Given the description of an element on the screen output the (x, y) to click on. 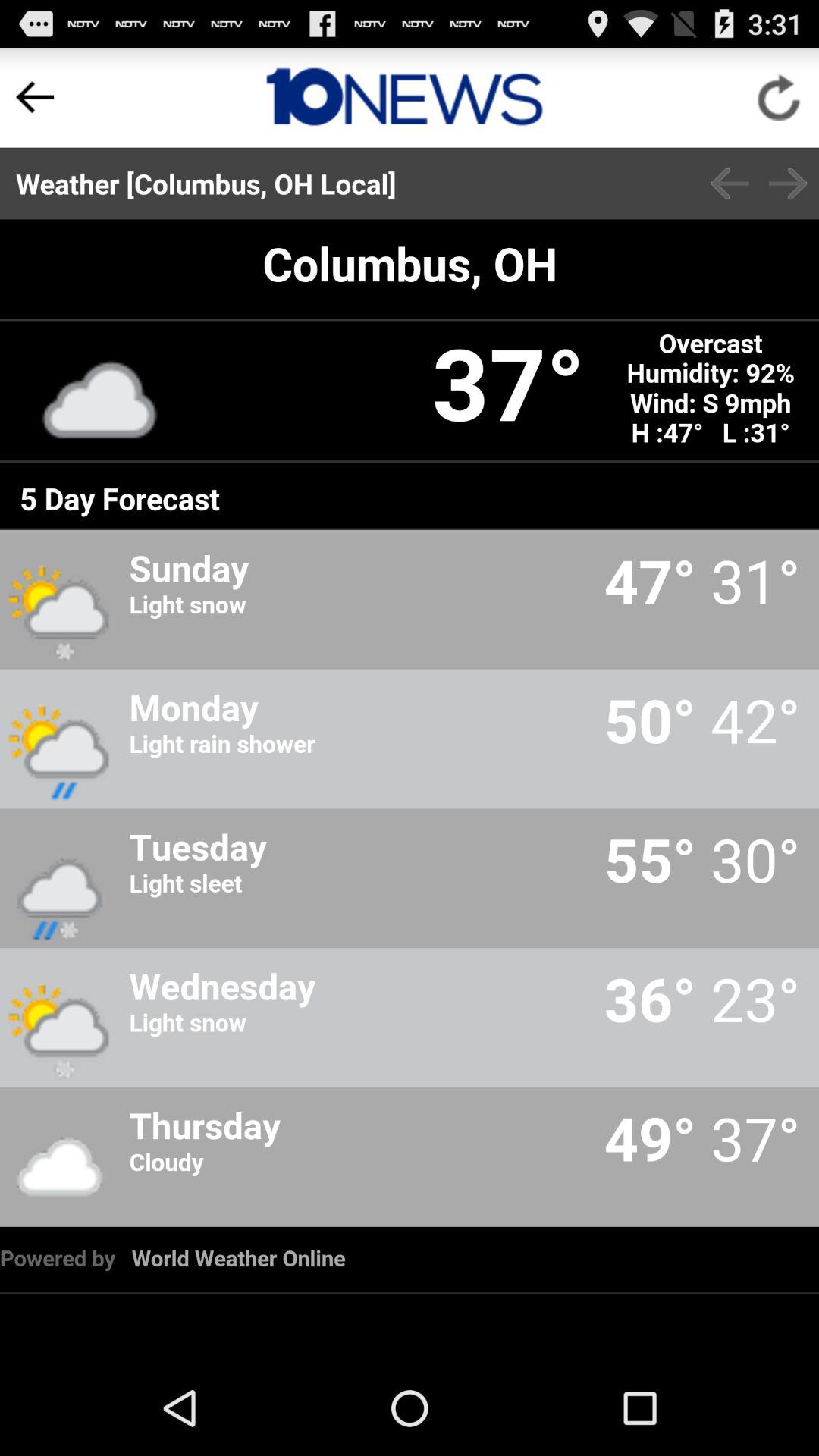
go to back (787, 183)
